Given the description of an element on the screen output the (x, y) to click on. 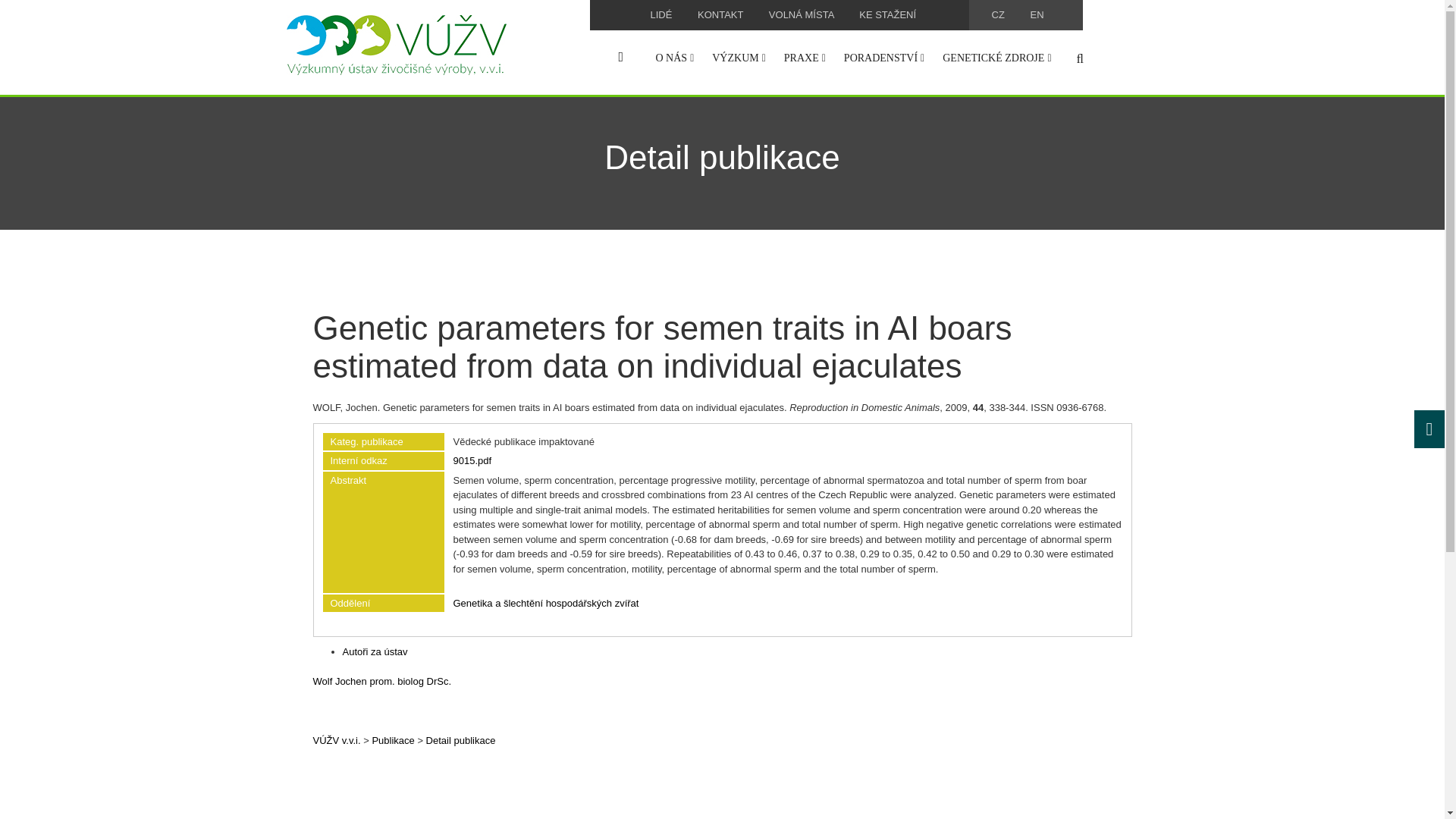
CZ (997, 14)
KONTAKT (719, 14)
EN (1036, 14)
